Given the description of an element on the screen output the (x, y) to click on. 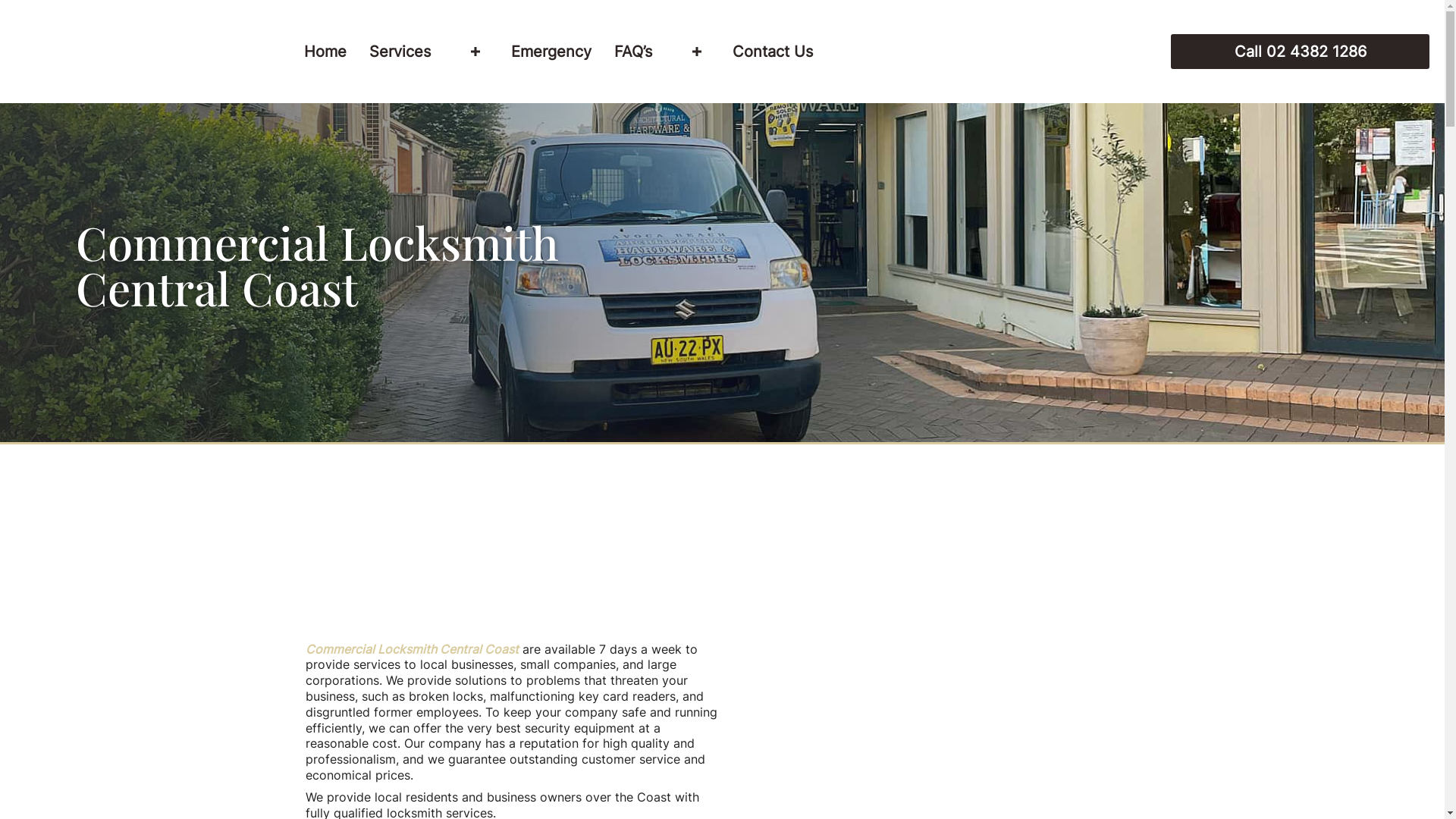
Home Element type: text (325, 51)
Architectural-Hardware-Locksmiths-min Element type: hover (140, 51)
Commercial Locksmith Central Coast Element type: text (410, 648)
Services Element type: text (428, 51)
Emergency Element type: text (551, 51)
Call 02 4382 1286 Element type: text (1299, 51)
Contact Us Element type: text (772, 51)
